Given the description of an element on the screen output the (x, y) to click on. 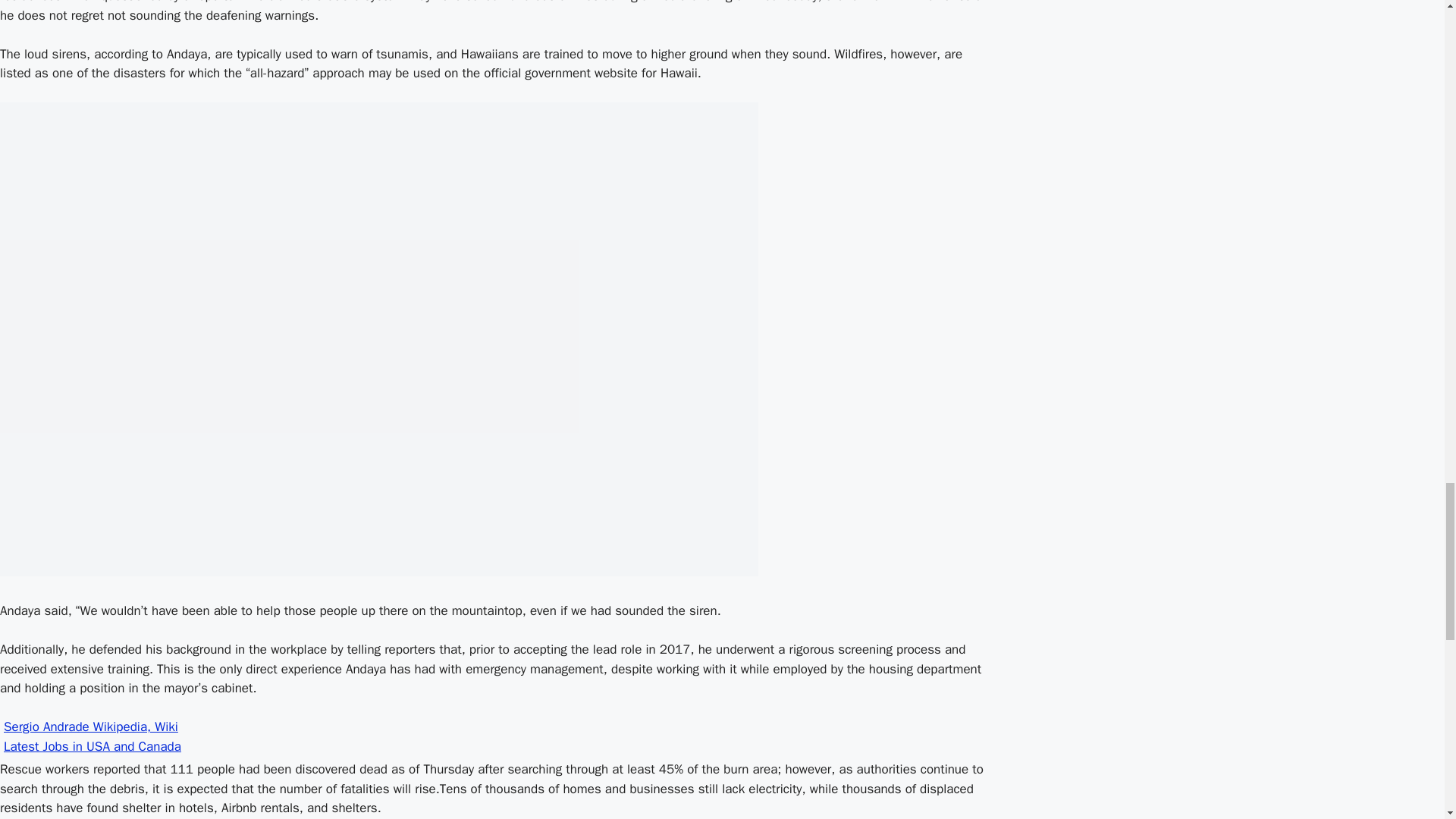
Sergio Andrade Wikipedia, Wiki (90, 726)
Latest Jobs in USA and Canada (92, 746)
